Given the description of an element on the screen output the (x, y) to click on. 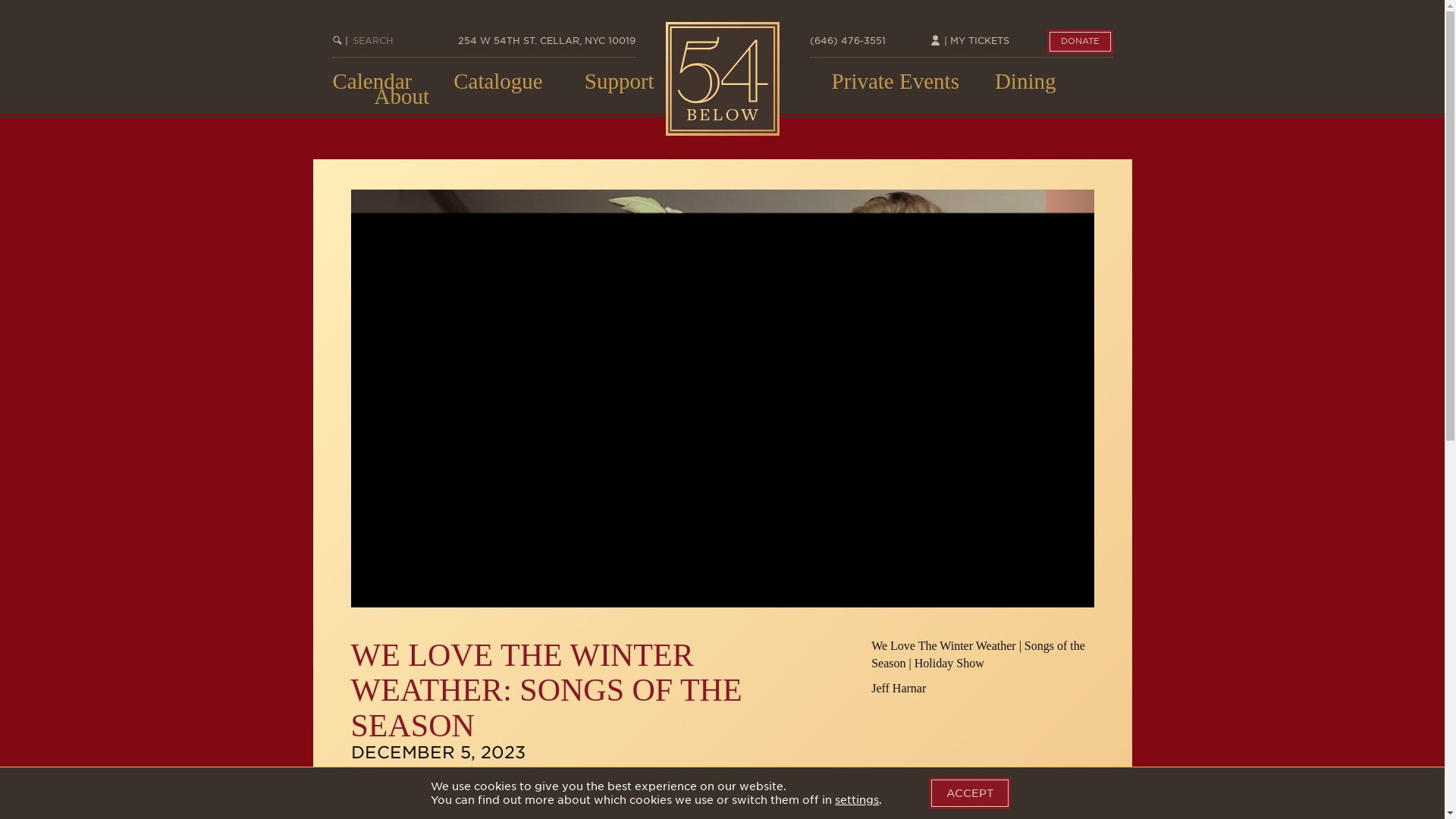
Dining (1025, 80)
About (401, 96)
Calendar (371, 80)
Catalogue (497, 80)
Private Events (895, 80)
54 BELOW (721, 78)
DONATE (1079, 41)
Support (619, 80)
